Given the description of an element on the screen output the (x, y) to click on. 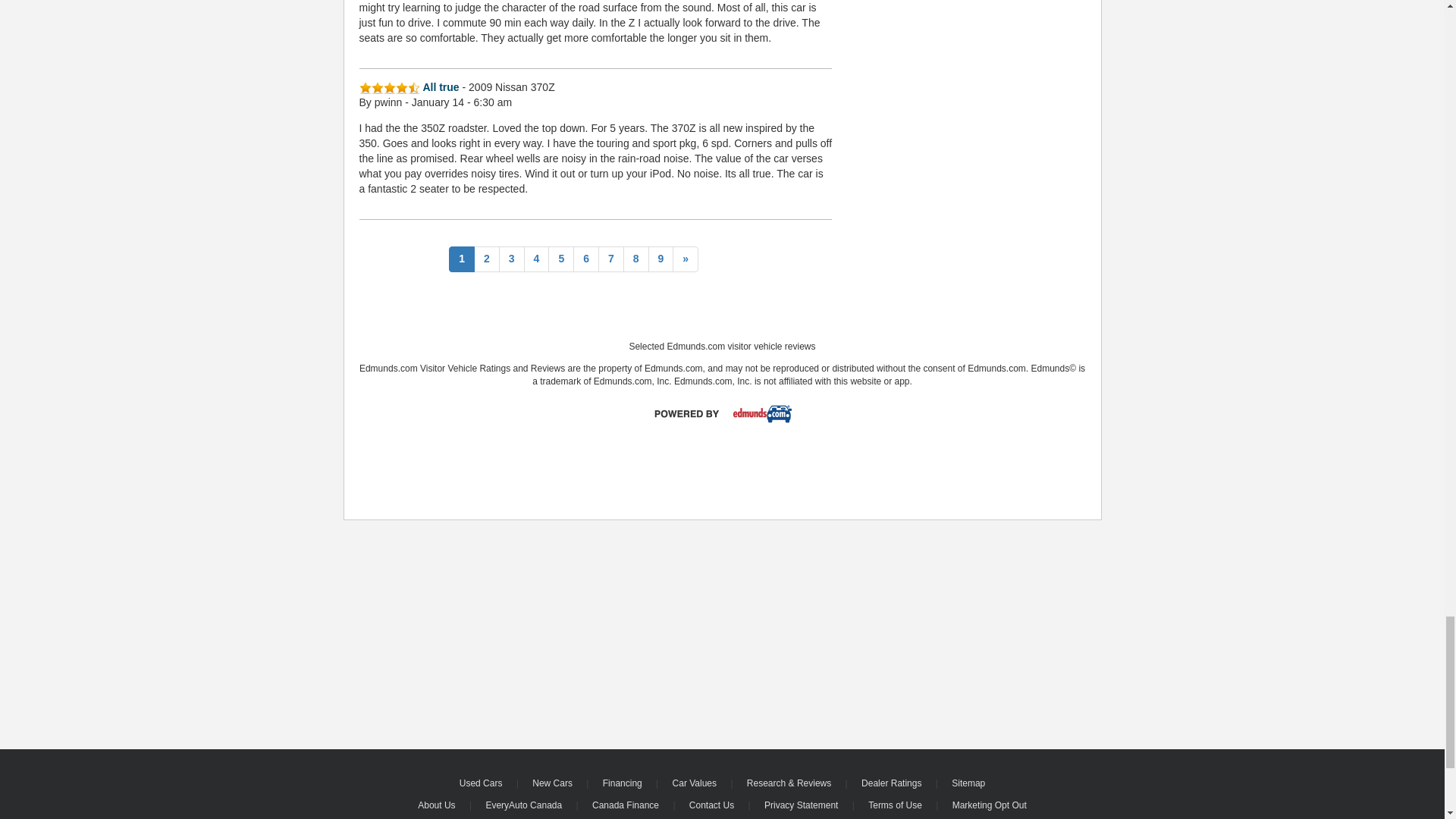
Used Cars (482, 783)
5 (560, 258)
2 (486, 258)
8 (636, 258)
7 (611, 258)
6 (585, 258)
9 (660, 258)
4 (537, 258)
3 (511, 258)
